Given the description of an element on the screen output the (x, y) to click on. 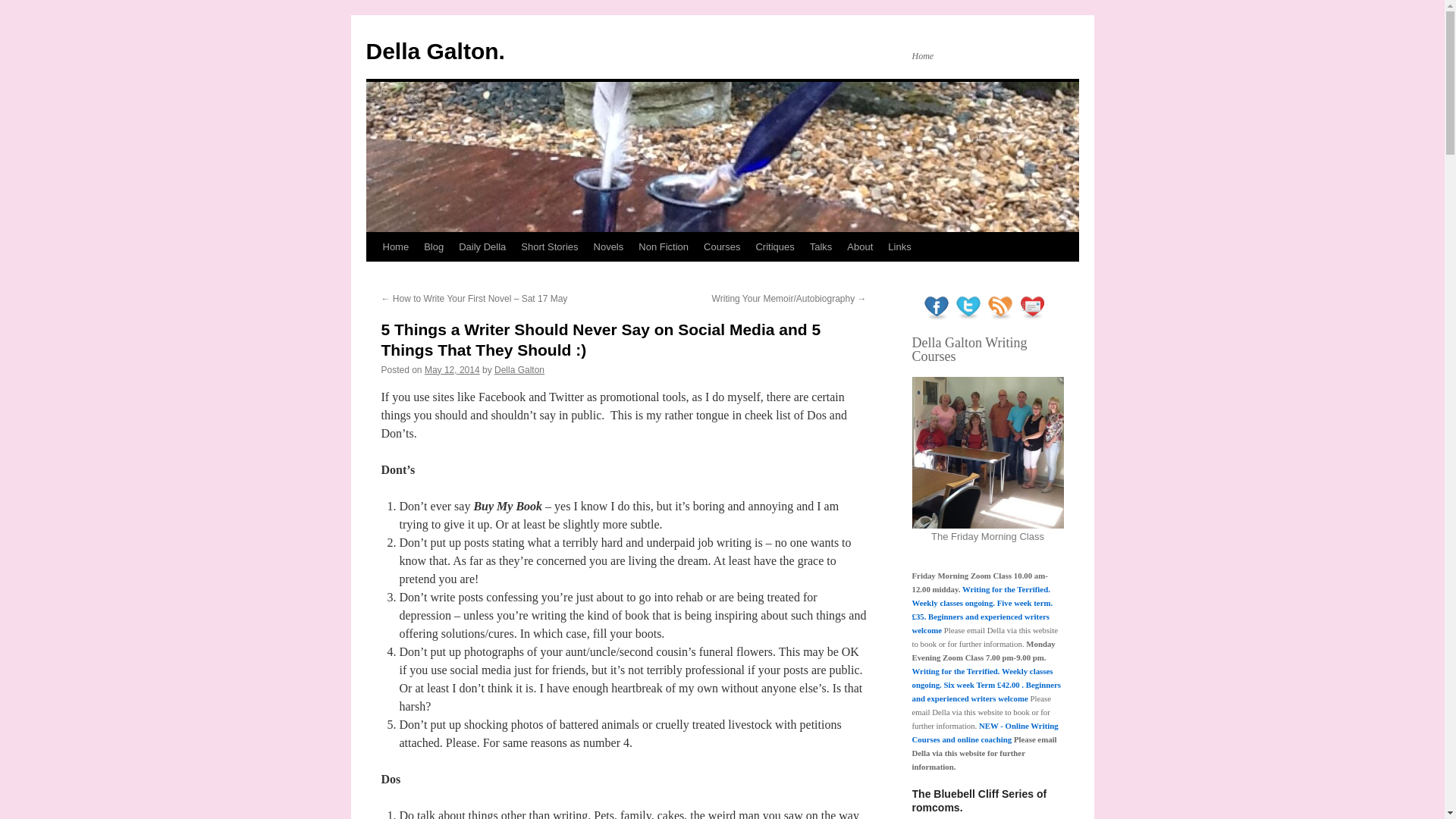
Talks (821, 246)
Della Galton (519, 369)
Novels (608, 246)
Blog (433, 246)
7:15 pm (452, 369)
Courses (721, 246)
View all posts by Della Galton (519, 369)
Critiques (775, 246)
Short Stories (549, 246)
Home (395, 246)
Della Galton. (434, 50)
May 12, 2014 (452, 369)
Links (899, 246)
Daily Della (482, 246)
Della Galton. (434, 50)
